Given the description of an element on the screen output the (x, y) to click on. 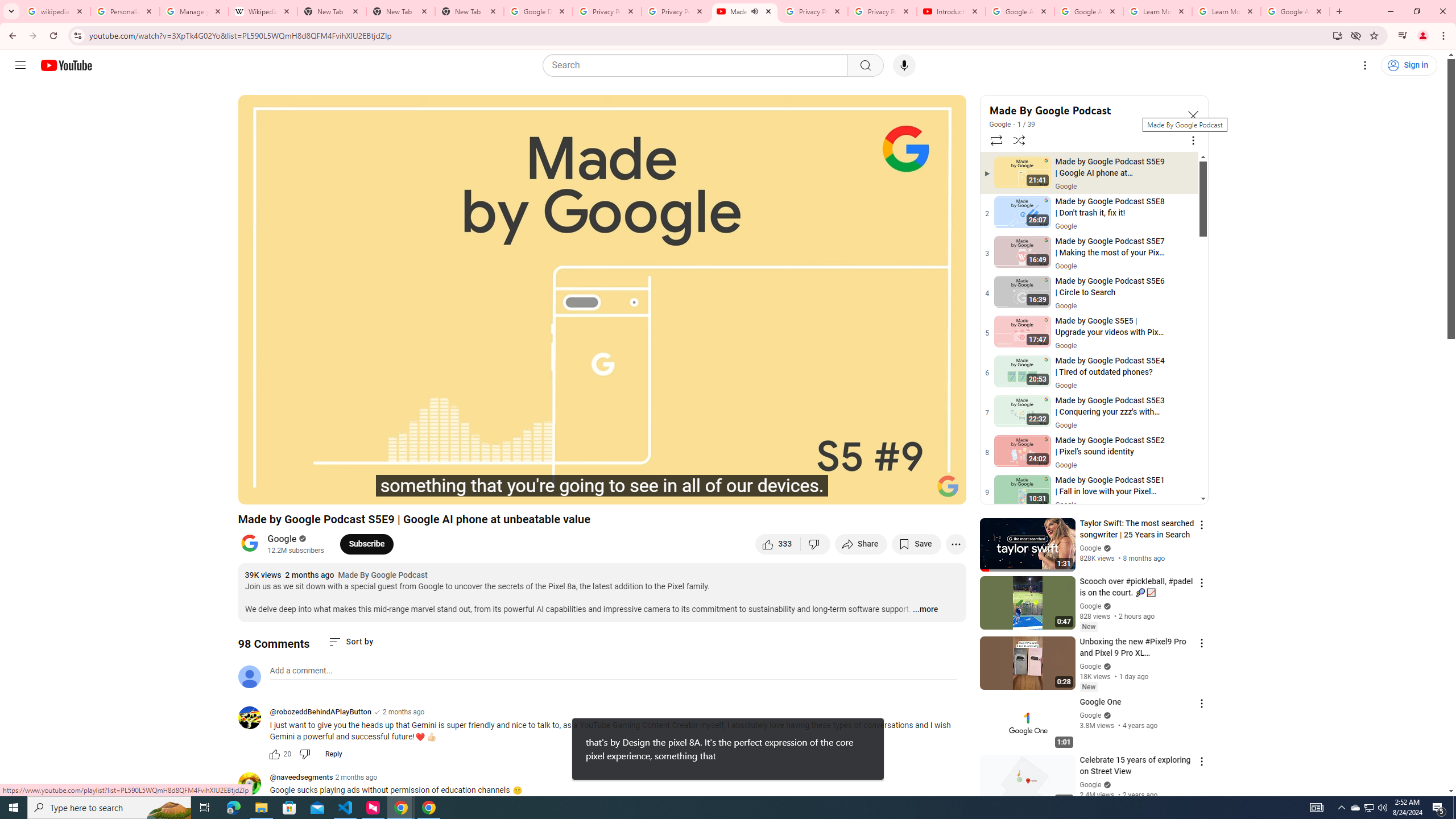
Default profile photo (248, 676)
Dislike this comment (304, 754)
@naveedsegments (301, 777)
Install YouTube (1336, 35)
Dislike this video (815, 543)
Personalization & Google Search results - Google Search Help (124, 11)
AutomationID: simplebox-placeholder (301, 670)
like this video along with 333 other people (777, 543)
Share (861, 543)
